Given the description of an element on the screen output the (x, y) to click on. 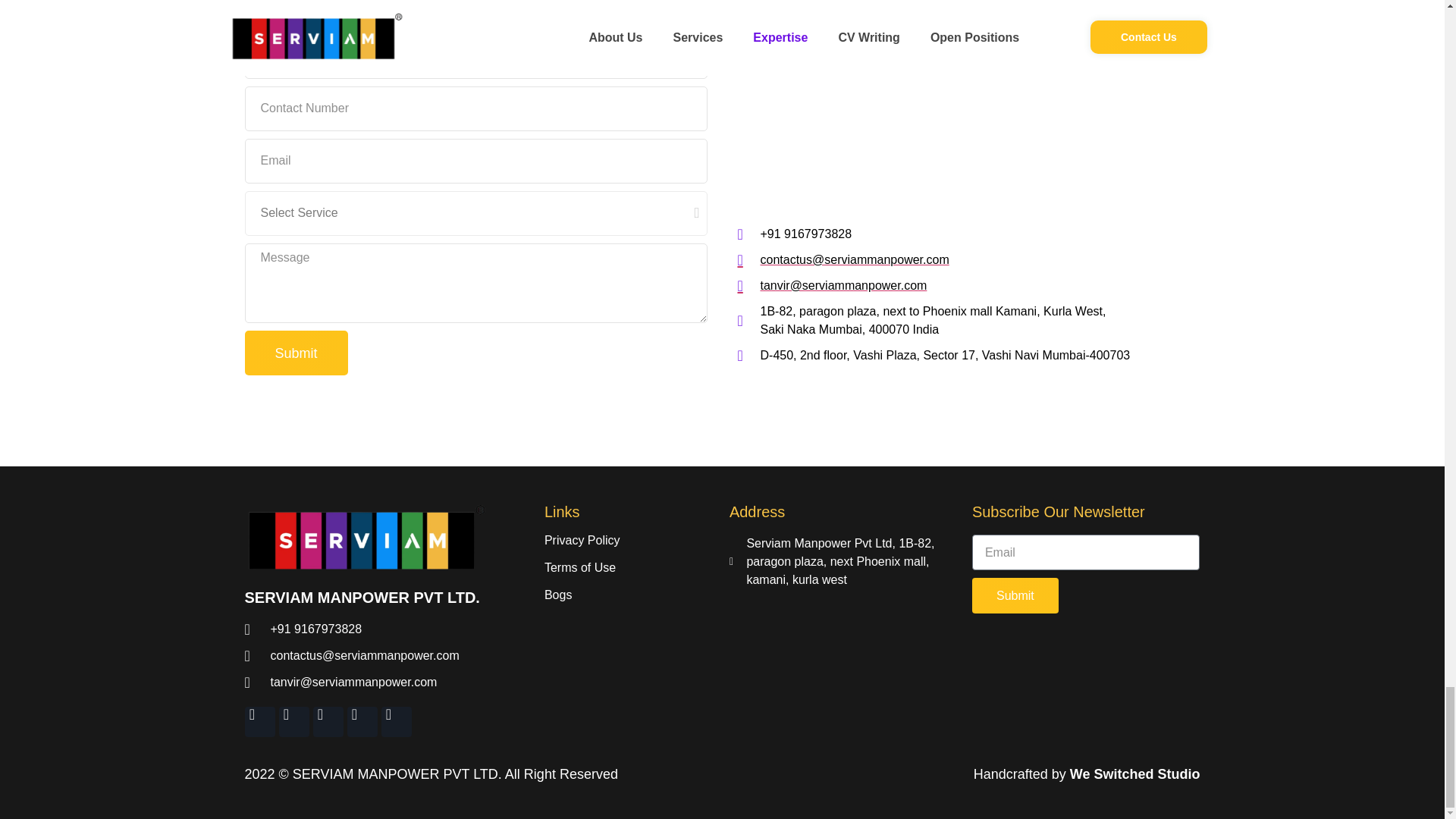
Submit (295, 352)
Submit (1015, 595)
serviam (967, 104)
